Given the description of an element on the screen output the (x, y) to click on. 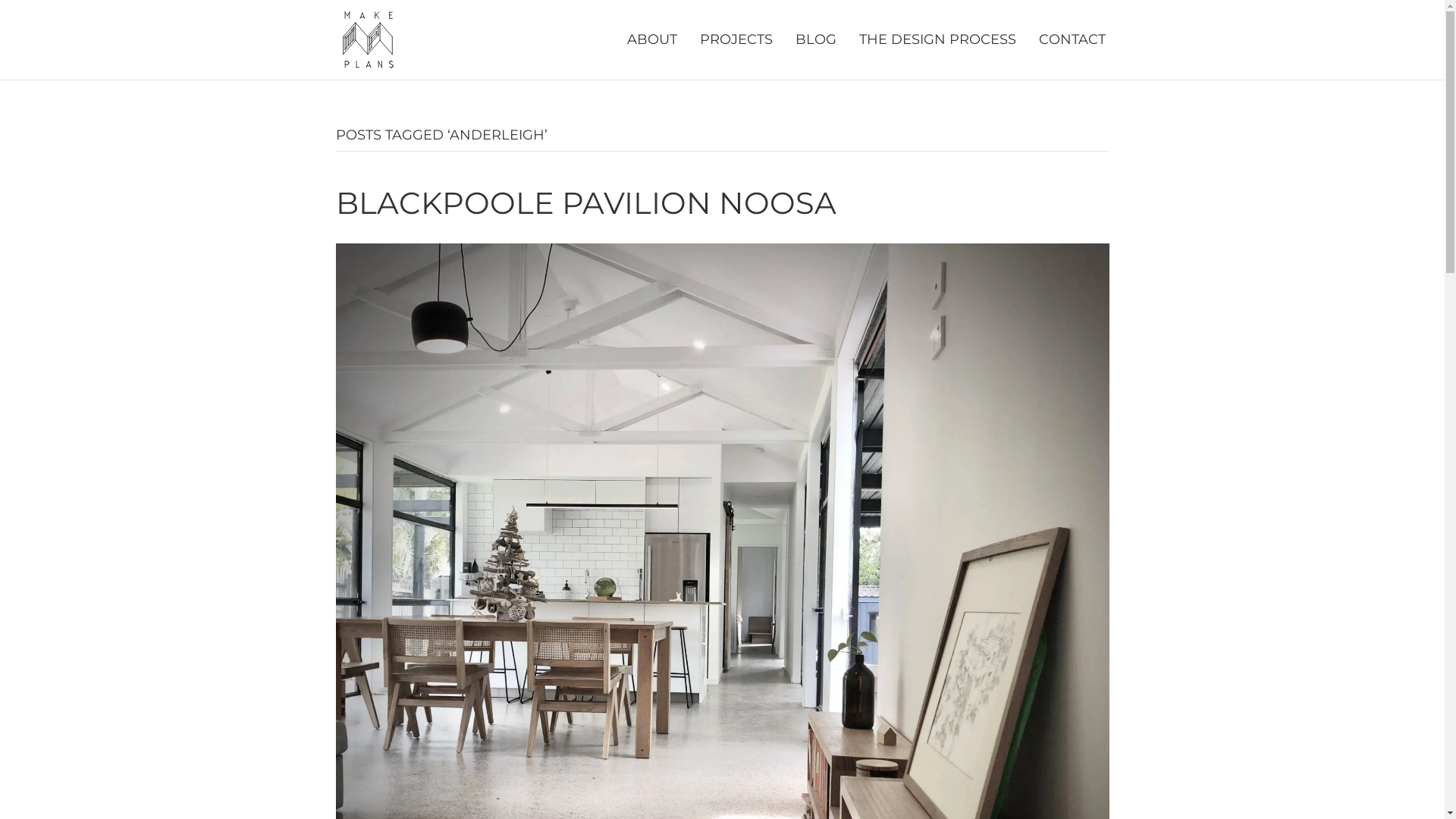
BLACKPOOLE PAVILION NOOSA Element type: text (585, 202)
PROJECTS Element type: text (736, 39)
BLACKPOOLE PAVILION NOOSA Element type: hover (721, 620)
CONTACT Element type: text (1072, 39)
ABOUT Element type: text (651, 39)
BLOG Element type: text (815, 39)
THE DESIGN PROCESS Element type: text (937, 39)
